Given the description of an element on the screen output the (x, y) to click on. 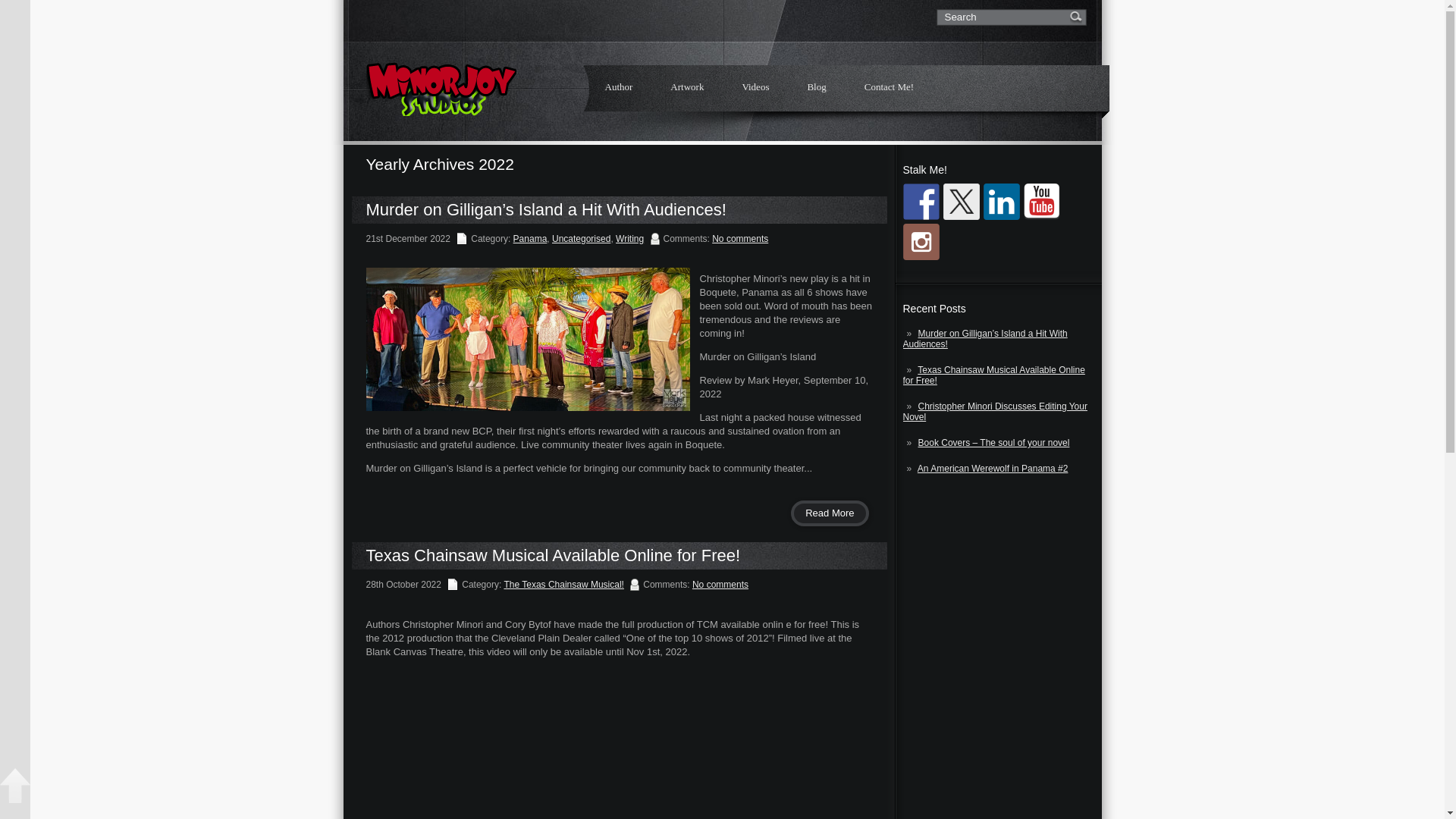
Texas Chainsaw Musical Available Online for Free! (993, 374)
Follow us on Twitter (961, 201)
Search (1001, 17)
Blog (815, 86)
Follow us on Facebook (920, 201)
Videos (754, 86)
Find us on YouTube (1041, 201)
Author (617, 86)
Christopher Minori Discusses Editing Your Novel (994, 411)
Check out our instagram feed (920, 241)
